Given the description of an element on the screen output the (x, y) to click on. 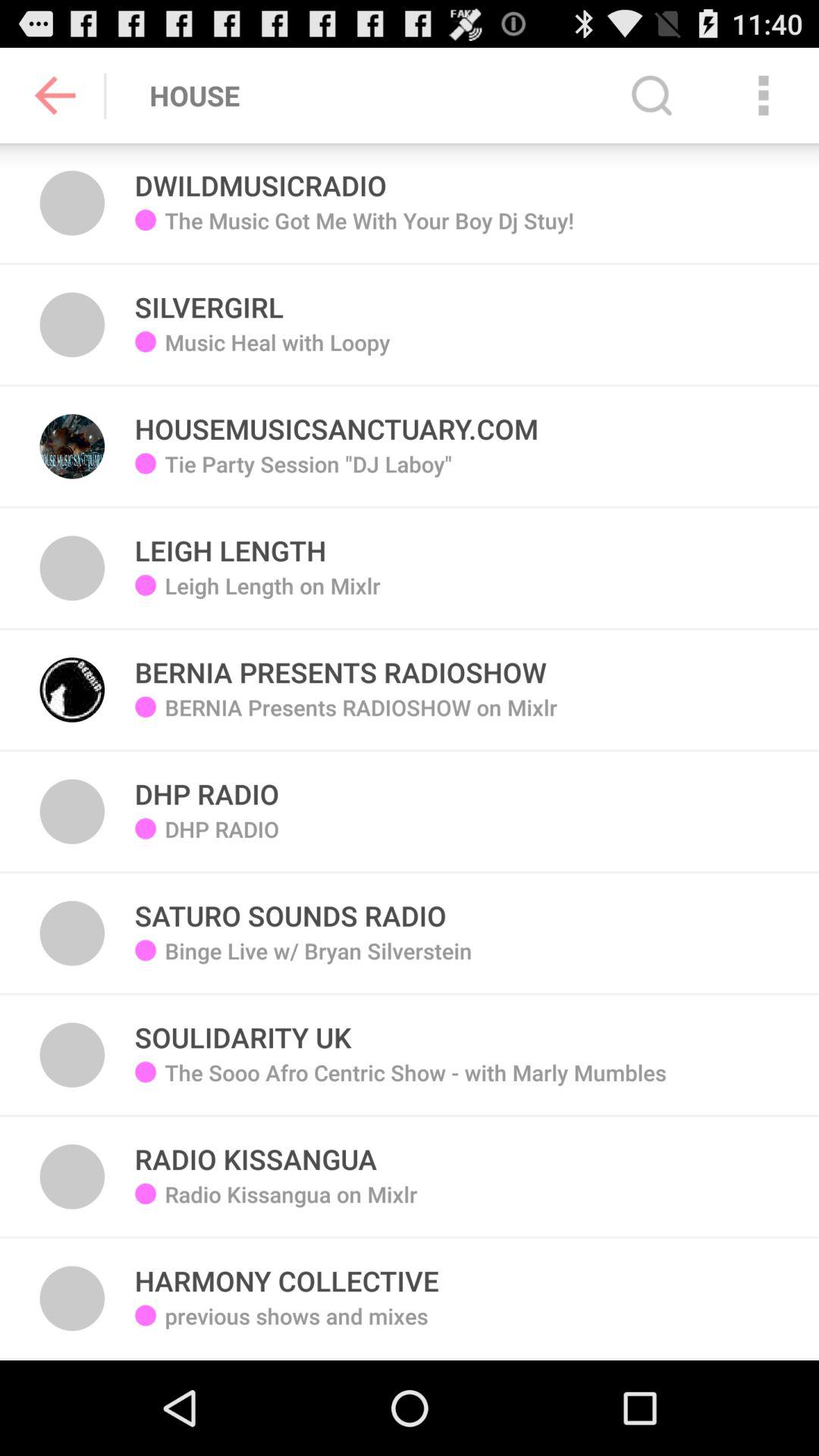
tap tie party session icon (308, 475)
